Given the description of an element on the screen output the (x, y) to click on. 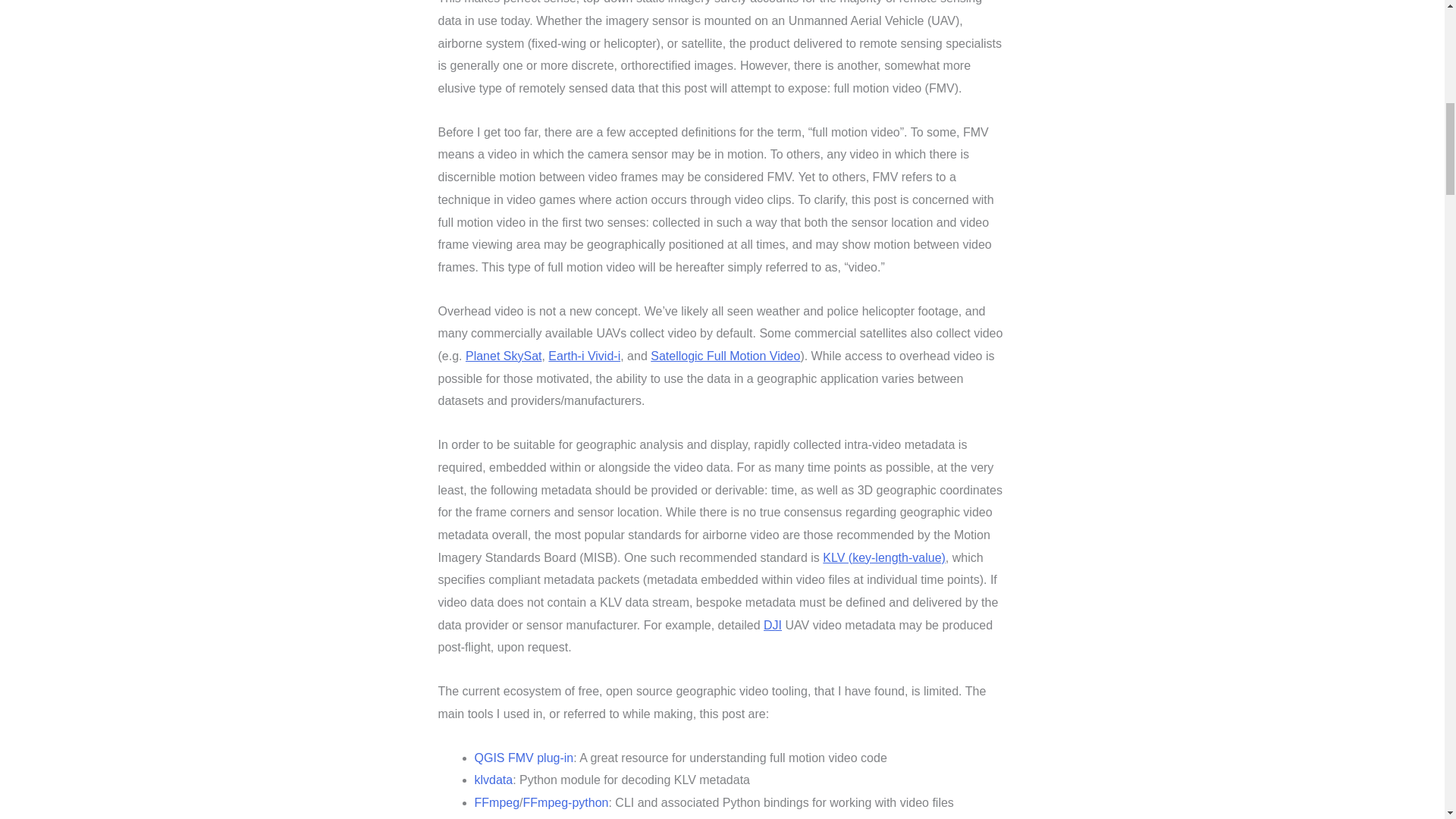
FFmpeg (496, 802)
QGIS FMV plug-in (523, 757)
DJI (771, 625)
Earth-i Vivid-i (584, 355)
Satellogic Full Motion Video (724, 355)
klvdata (493, 779)
FFmpeg-python (565, 802)
Planet SkySat (503, 355)
